Given the description of an element on the screen output the (x, y) to click on. 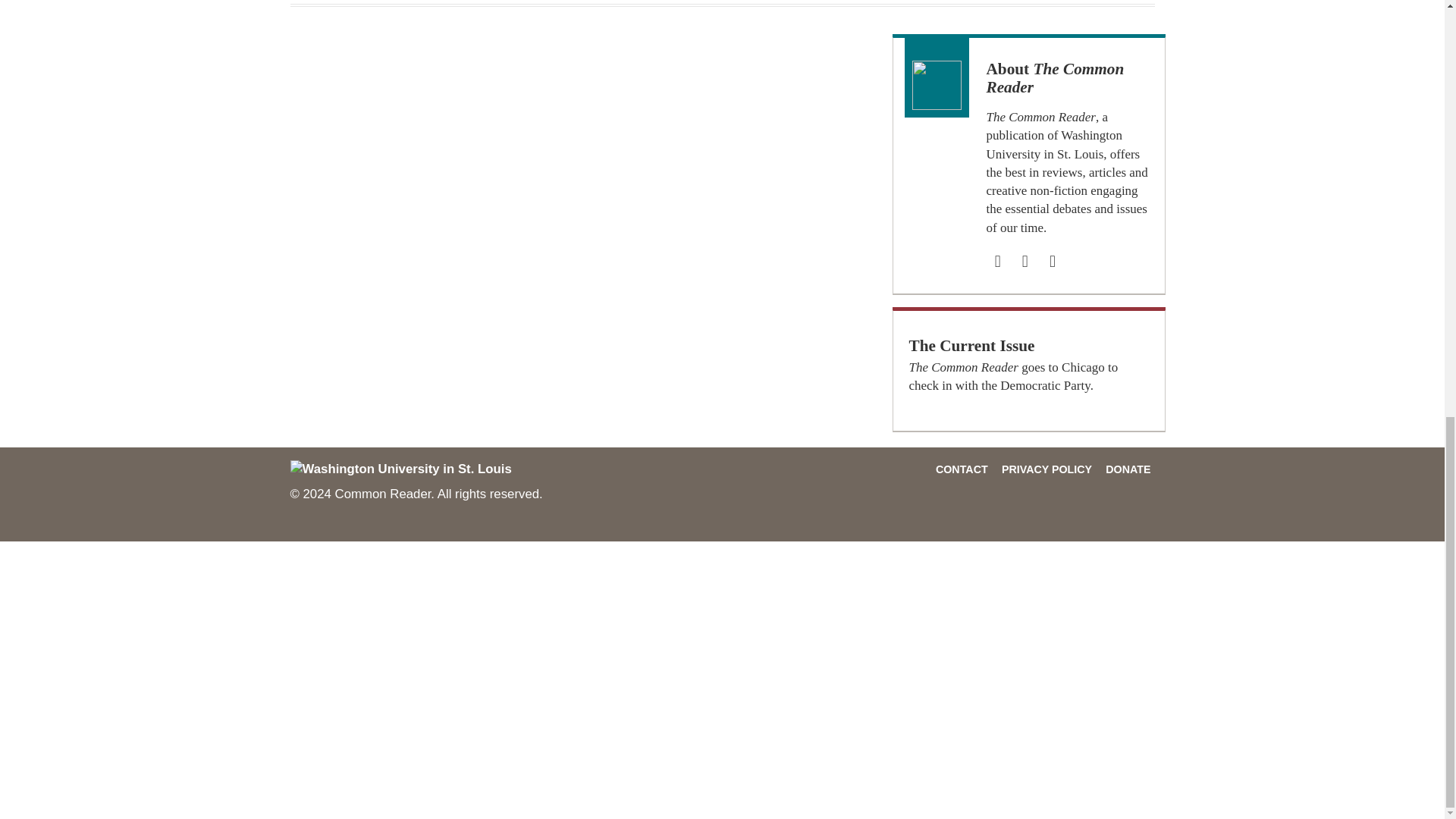
PRIVACY POLICY (1046, 469)
The Current Issue (970, 344)
CONTACT (962, 469)
DONATE (1127, 469)
